Given the description of an element on the screen output the (x, y) to click on. 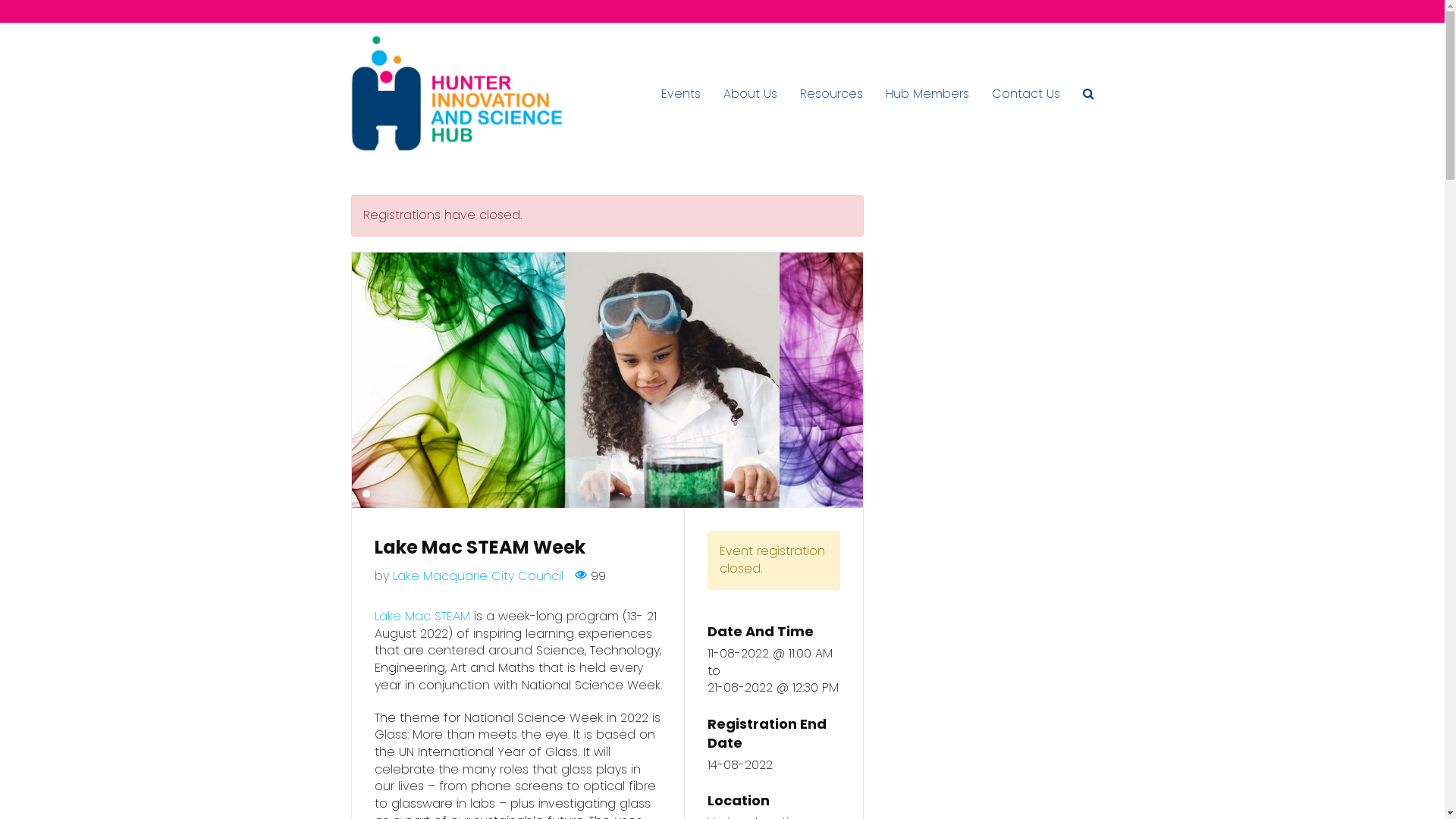
Resources Element type: text (831, 93)
1 Element type: text (366, 493)
Events Element type: text (680, 93)
Contact Us Element type: text (1024, 93)
Hub Members Element type: text (926, 93)
About Us Element type: text (749, 93)
Lake Macquarie City Council Element type: text (477, 575)
Lake Mac STEAM Element type: text (422, 615)
